Given the description of an element on the screen output the (x, y) to click on. 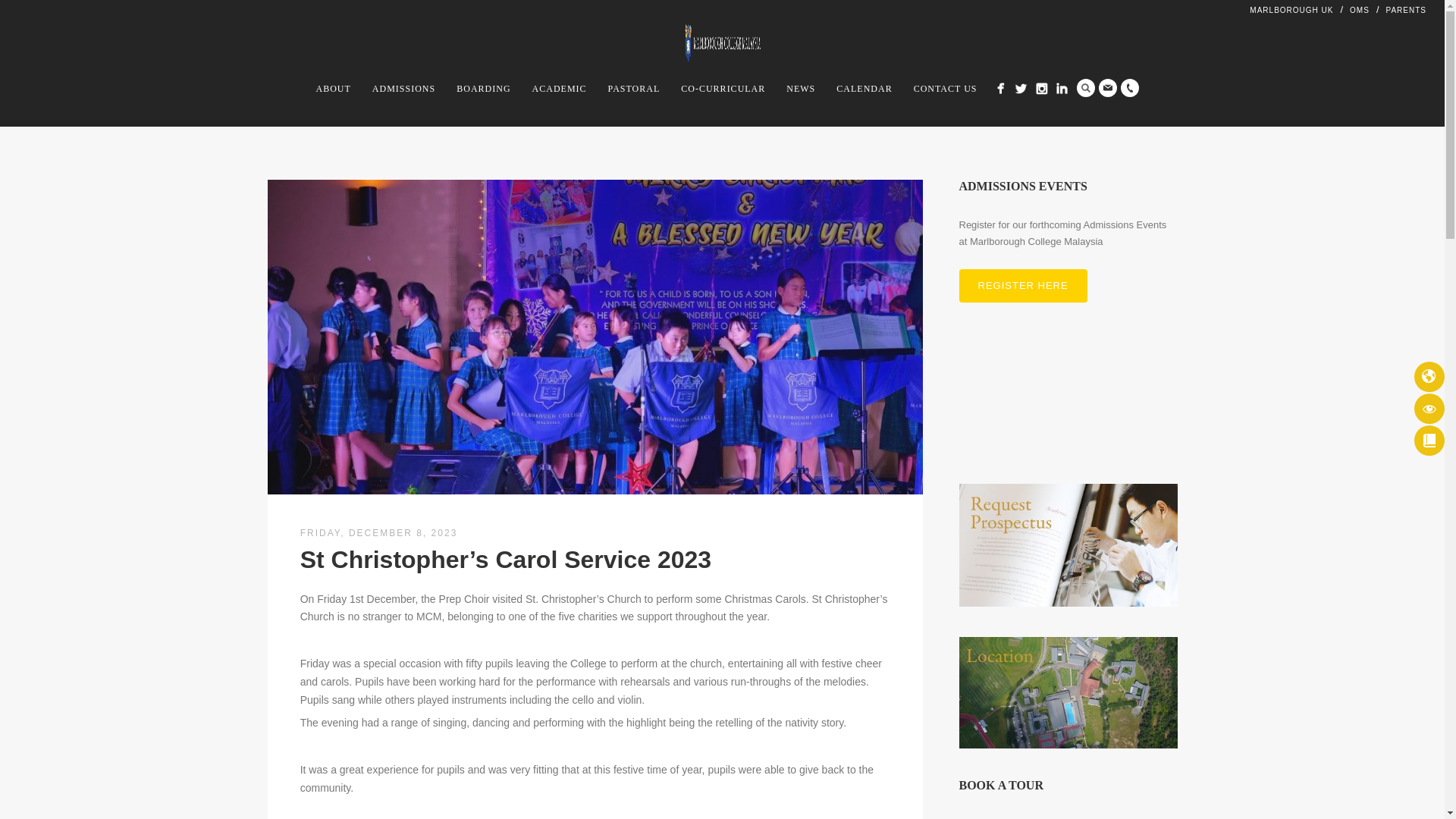
Facebook (1000, 87)
ADMISSIONS (403, 88)
LinkedIn (1061, 87)
Twitter (1020, 87)
Instagram (1041, 87)
BOARDING (483, 88)
ACADEMIC (558, 88)
ABOUT (333, 88)
